Given the description of an element on the screen output the (x, y) to click on. 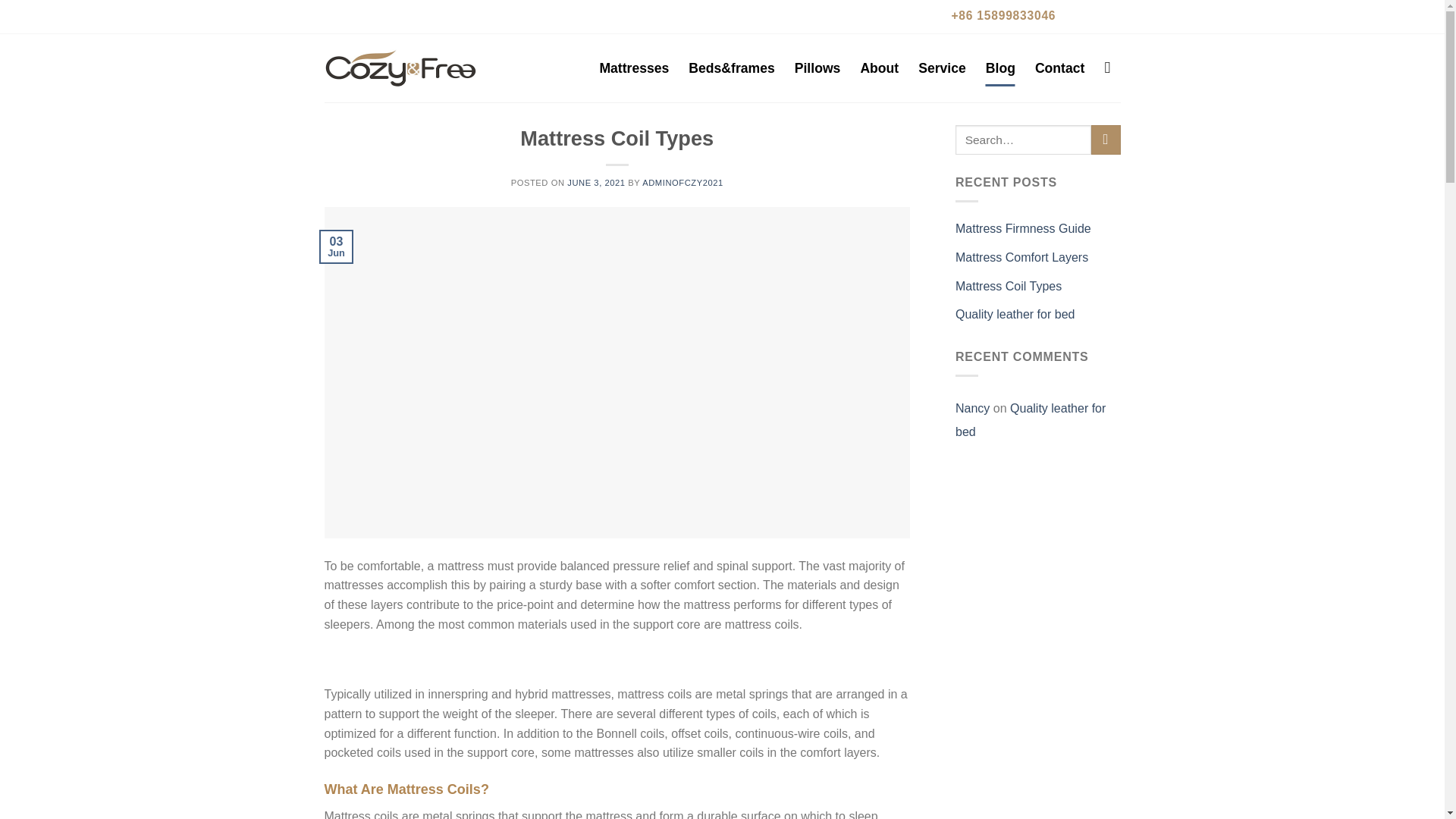
Mattress Firmness Guide (1022, 228)
JUNE 3, 2021 (595, 182)
Mattress Comfort Layers (1021, 257)
Pillows (817, 67)
Mattress Coil Types (1008, 286)
Follow on LinkedIn (1105, 15)
ADMINOFCZY2021 (682, 182)
Follow on Facebook (1076, 15)
Contact (1059, 67)
Mattresses (633, 67)
About (879, 67)
Service (942, 67)
Quality leather for bed (1030, 420)
Nancy (972, 408)
